Given the description of an element on the screen output the (x, y) to click on. 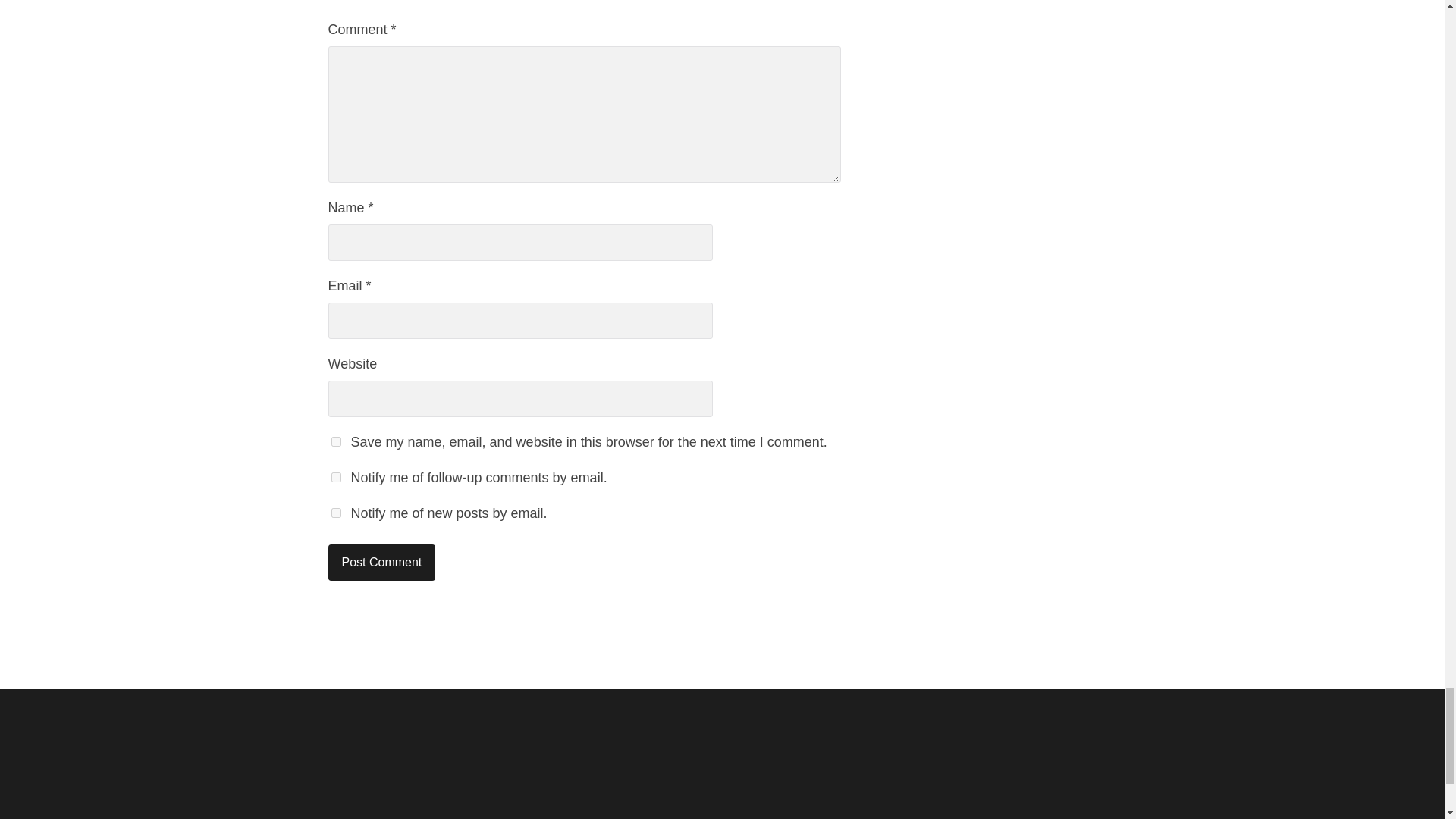
yes (335, 441)
subscribe (335, 477)
subscribe (335, 512)
Post Comment (381, 562)
